Given the description of an element on the screen output the (x, y) to click on. 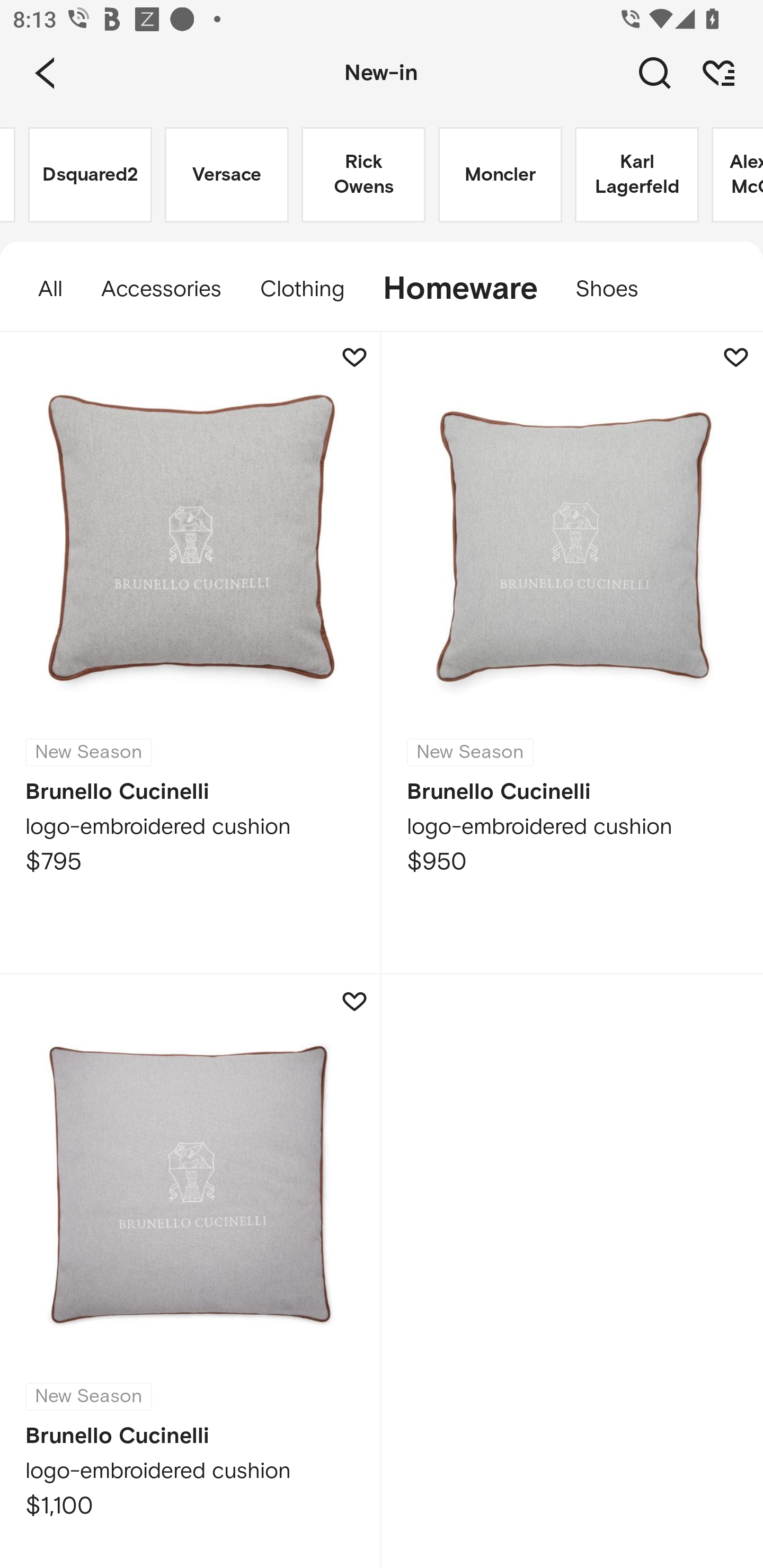
Dsquared2 (89, 174)
Versace (226, 174)
Rick Owens (363, 174)
Moncler (499, 174)
Karl Lagerfeld (636, 174)
All (40, 288)
Accessories (160, 288)
Clothing (301, 288)
Homeware (459, 288)
Shoes (616, 288)
